Given the description of an element on the screen output the (x, y) to click on. 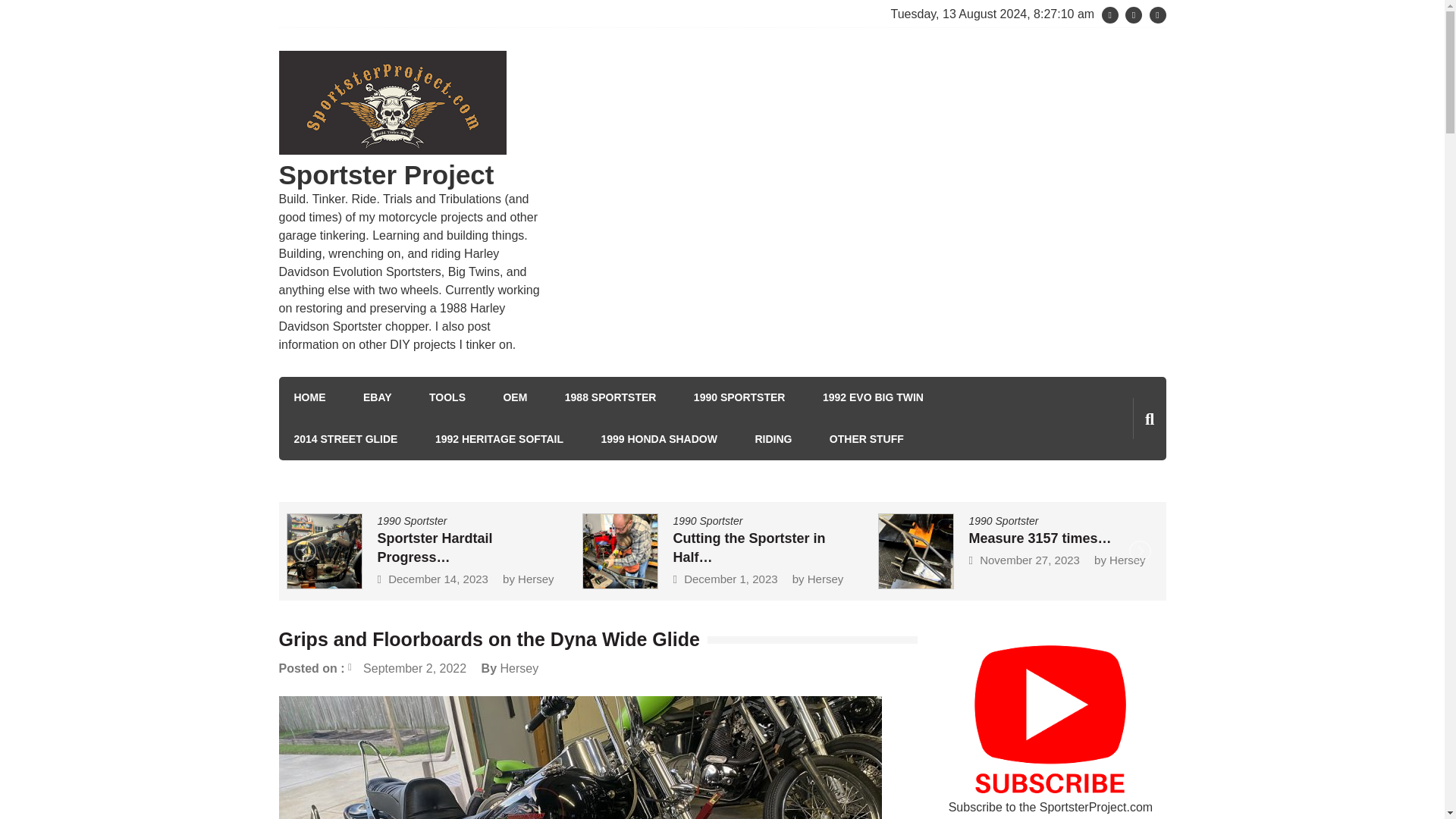
Sportster Project (387, 174)
2014 STREET GLIDE (345, 439)
RIDING (773, 439)
1988 SPORTSTER (610, 397)
1999 HONDA SHADOW (658, 439)
1992 HERITAGE SOFTAIL (499, 439)
1990 SPORTSTER (740, 397)
Posts by Hersey (519, 667)
Search (1120, 483)
1992 EVO BIG TWIN (872, 397)
